Given the description of an element on the screen output the (x, y) to click on. 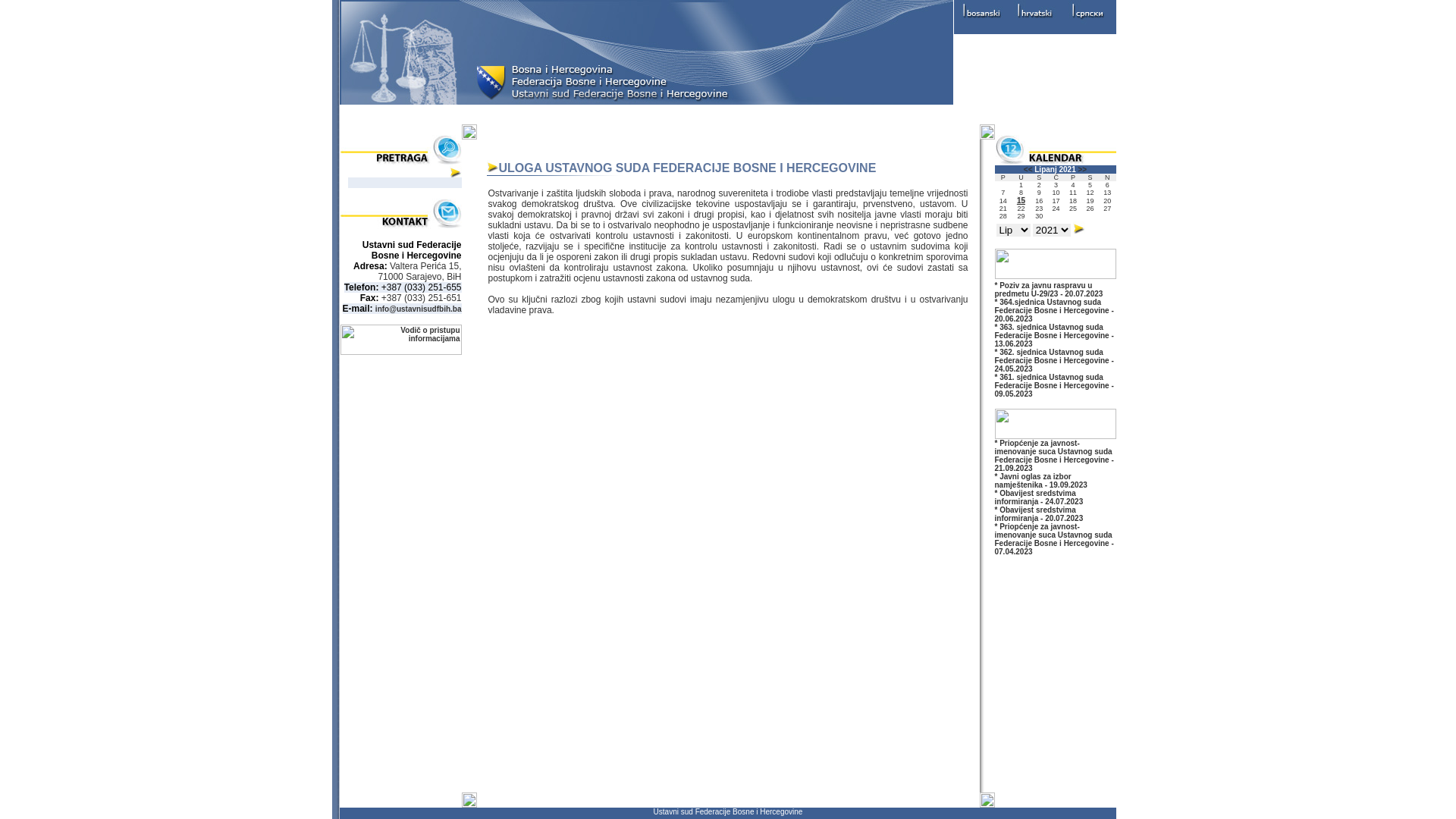
<< Element type: text (1027, 169)
* Obavijest sredstvima informiranja - 20.07.2023 Element type: text (1038, 513)
Linkovi Element type: text (838, 114)
>> Element type: text (1082, 169)
Pravni osnov Element type: text (574, 114)
* Poziv za javnu raspravu u predmetu U-29/23 - 20.07.2023 Element type: text (1048, 289)
Javne nabavke Element type: text (993, 114)
Kontakt Element type: text (907, 114)
info@ustavnisudfbih.ba Element type: text (418, 308)
15 Element type: text (1020, 200)
Sastav Suda Element type: text (384, 114)
* Obavijest sredstvima informiranja - 24.07.2023 Element type: text (1038, 497)
Odluke Element type: text (770, 114)
Organizacija Suda Element type: text (679, 114)
